Given the description of an element on the screen output the (x, y) to click on. 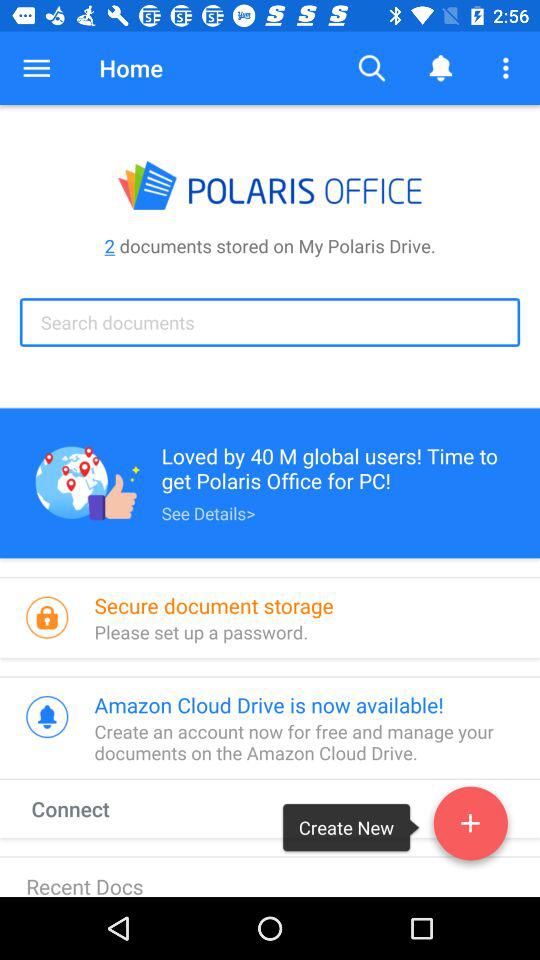
click item above recent docs icon (89, 808)
